Given the description of an element on the screen output the (x, y) to click on. 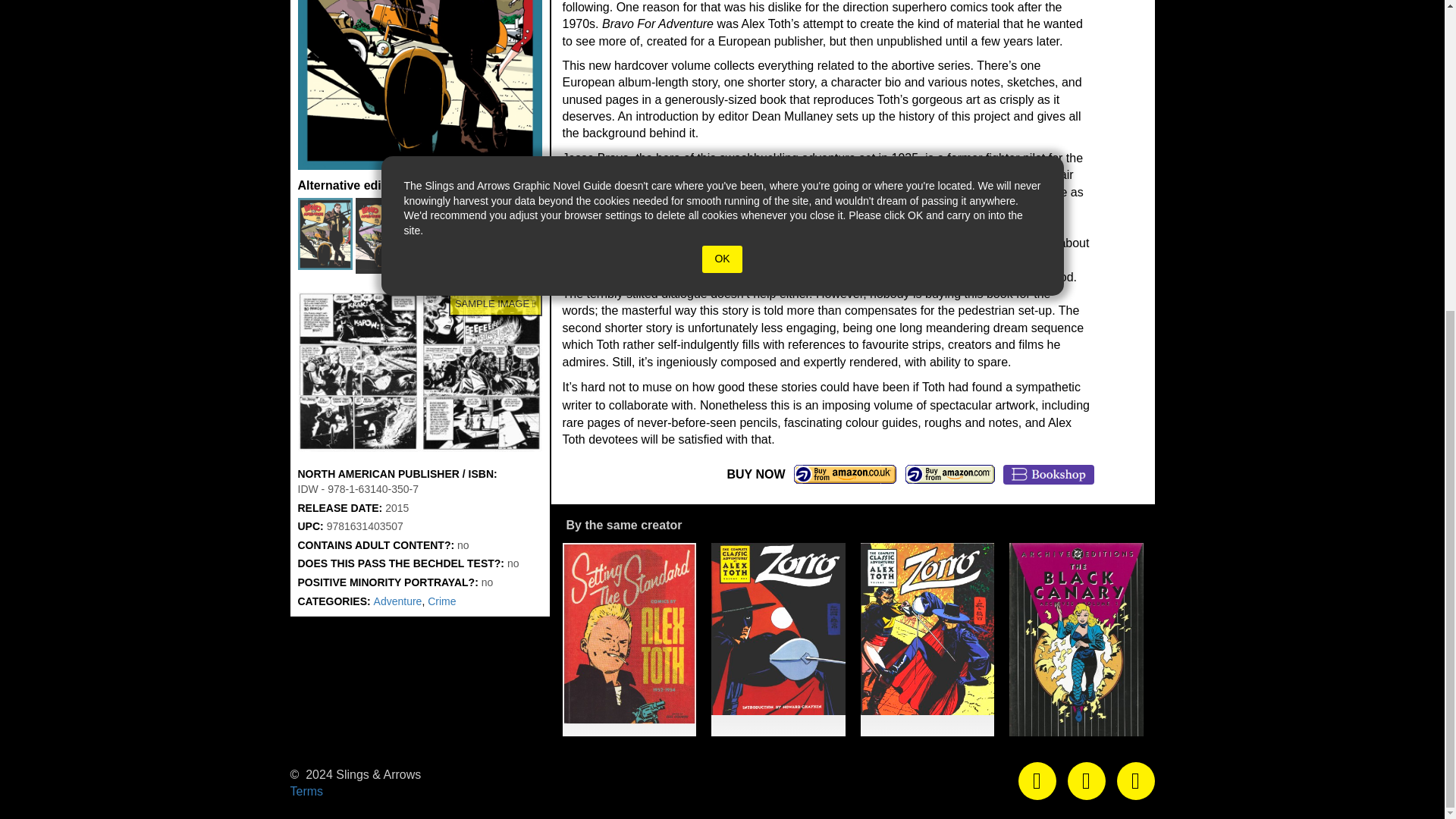
Crime (441, 601)
OK (721, 258)
SAMPLE IMAGE  (419, 371)
Adventure (398, 601)
